Given the description of an element on the screen output the (x, y) to click on. 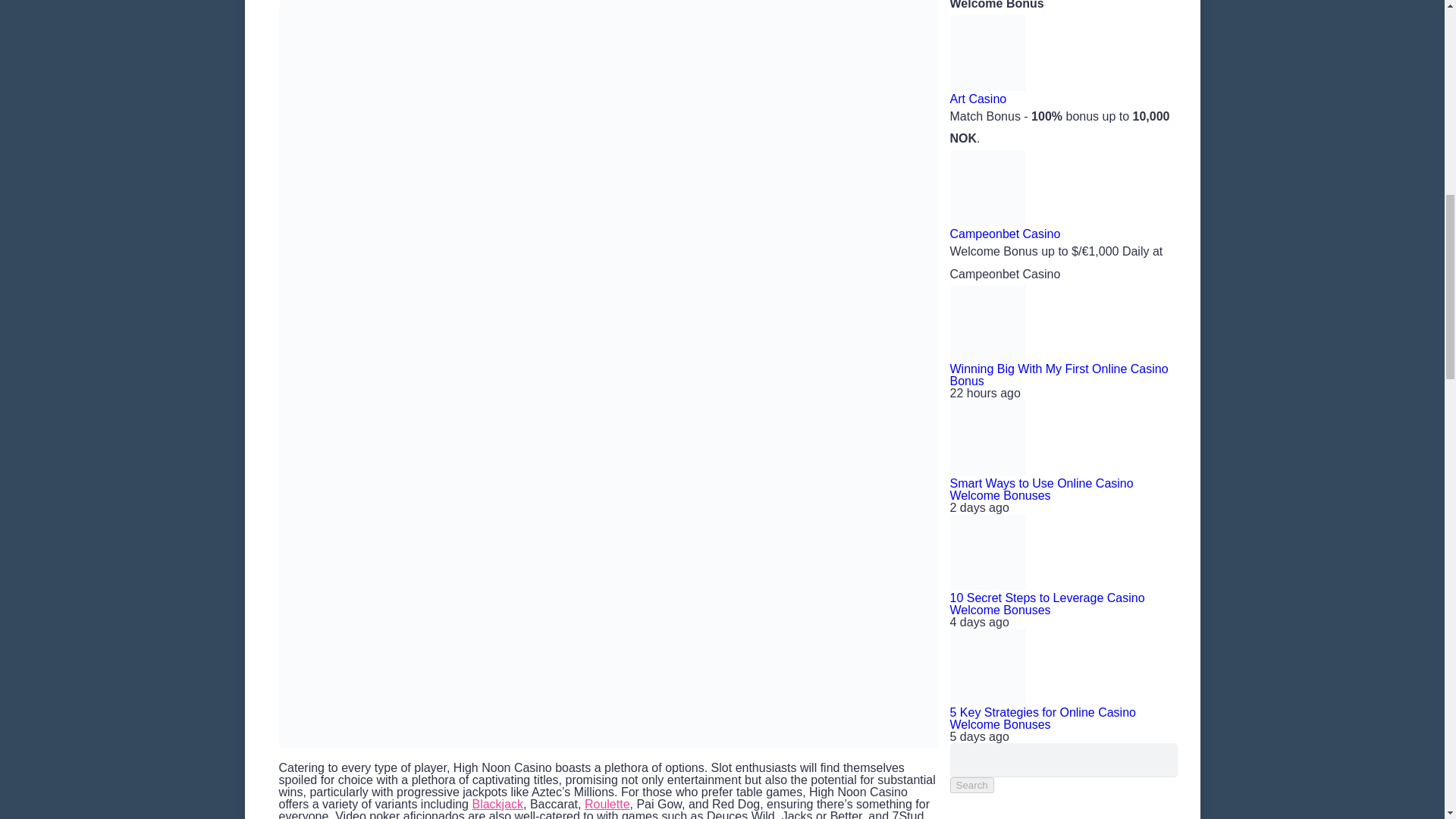
Roulette (607, 803)
Blackjack (496, 803)
